Given the description of an element on the screen output the (x, y) to click on. 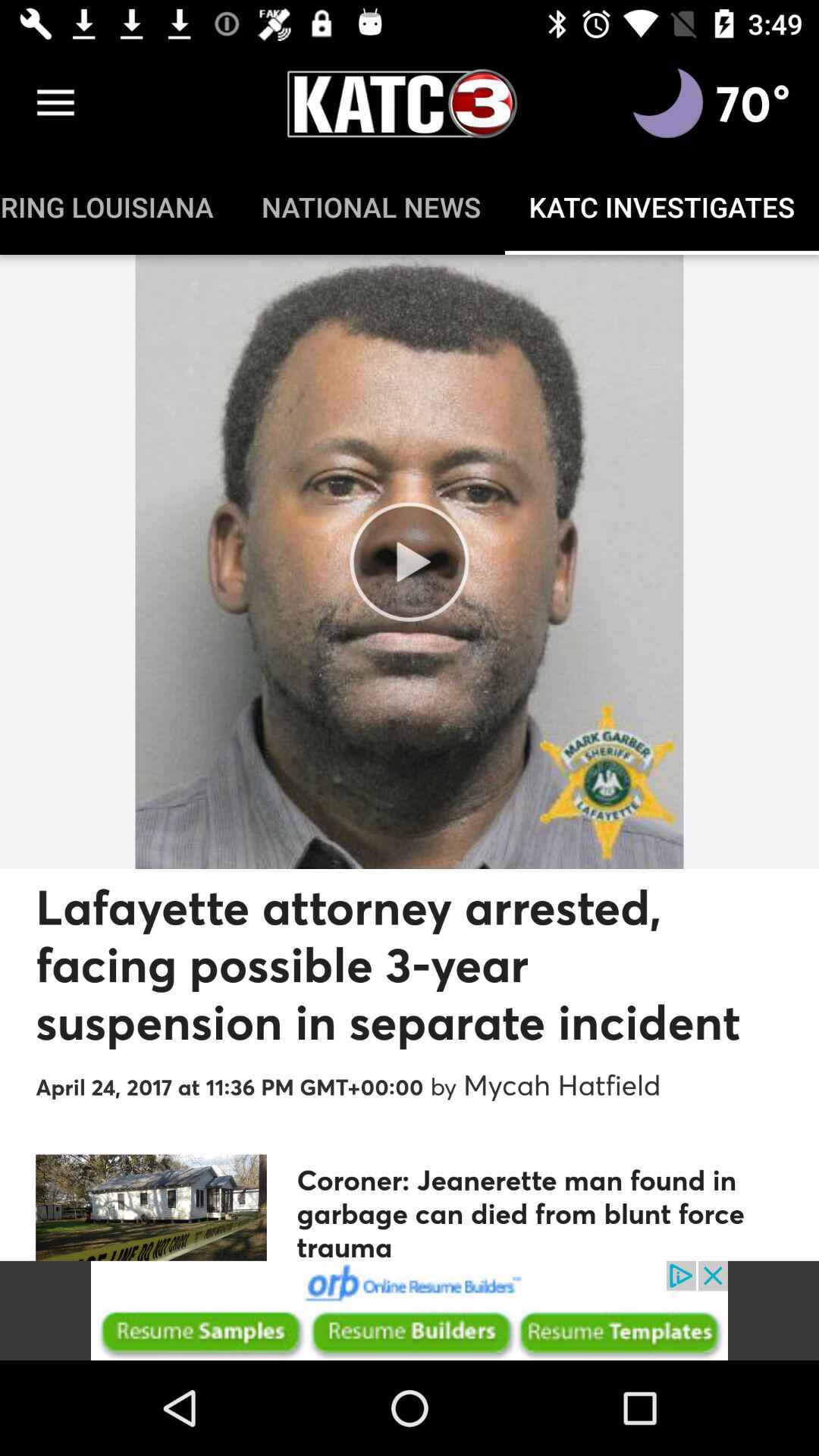
switch to night time mode (668, 103)
